Given the description of an element on the screen output the (x, y) to click on. 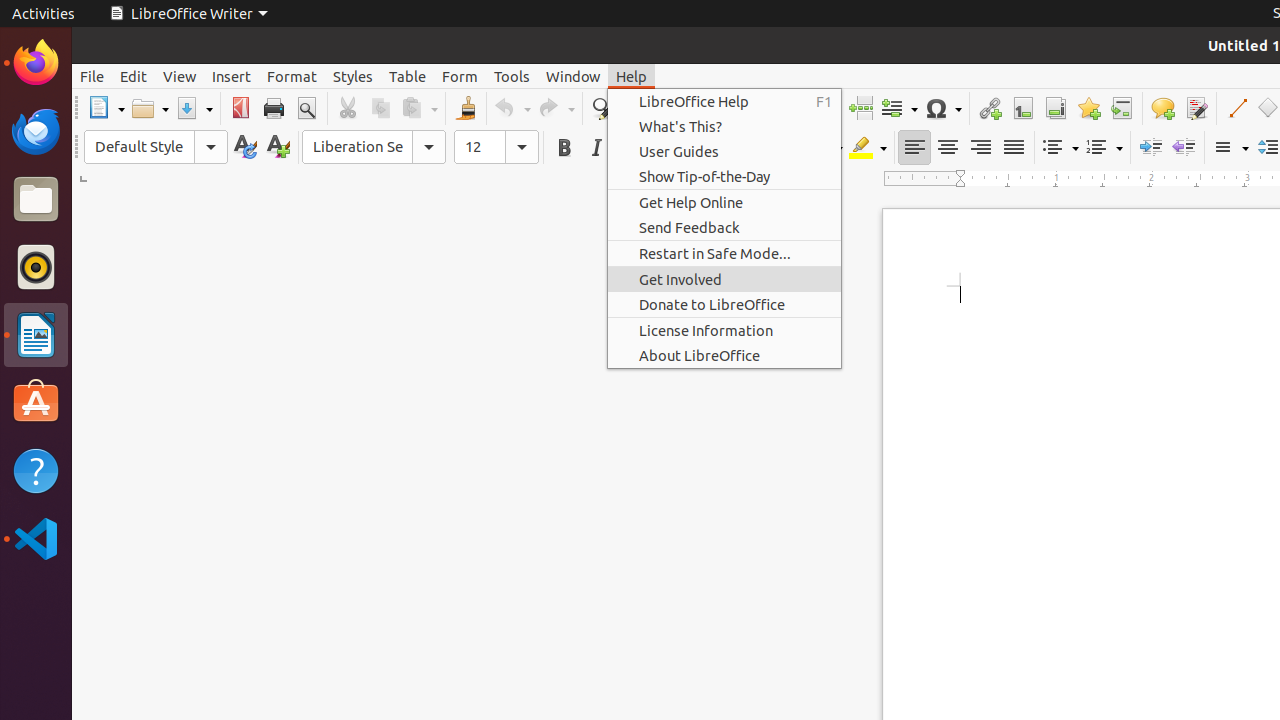
Ubuntu Software Element type: push-button (36, 402)
Center Element type: toggle-button (947, 147)
Hyperlink Element type: toggle-button (989, 108)
Left Element type: toggle-button (914, 147)
Line Element type: toggle-button (1236, 108)
